Given the description of an element on the screen output the (x, y) to click on. 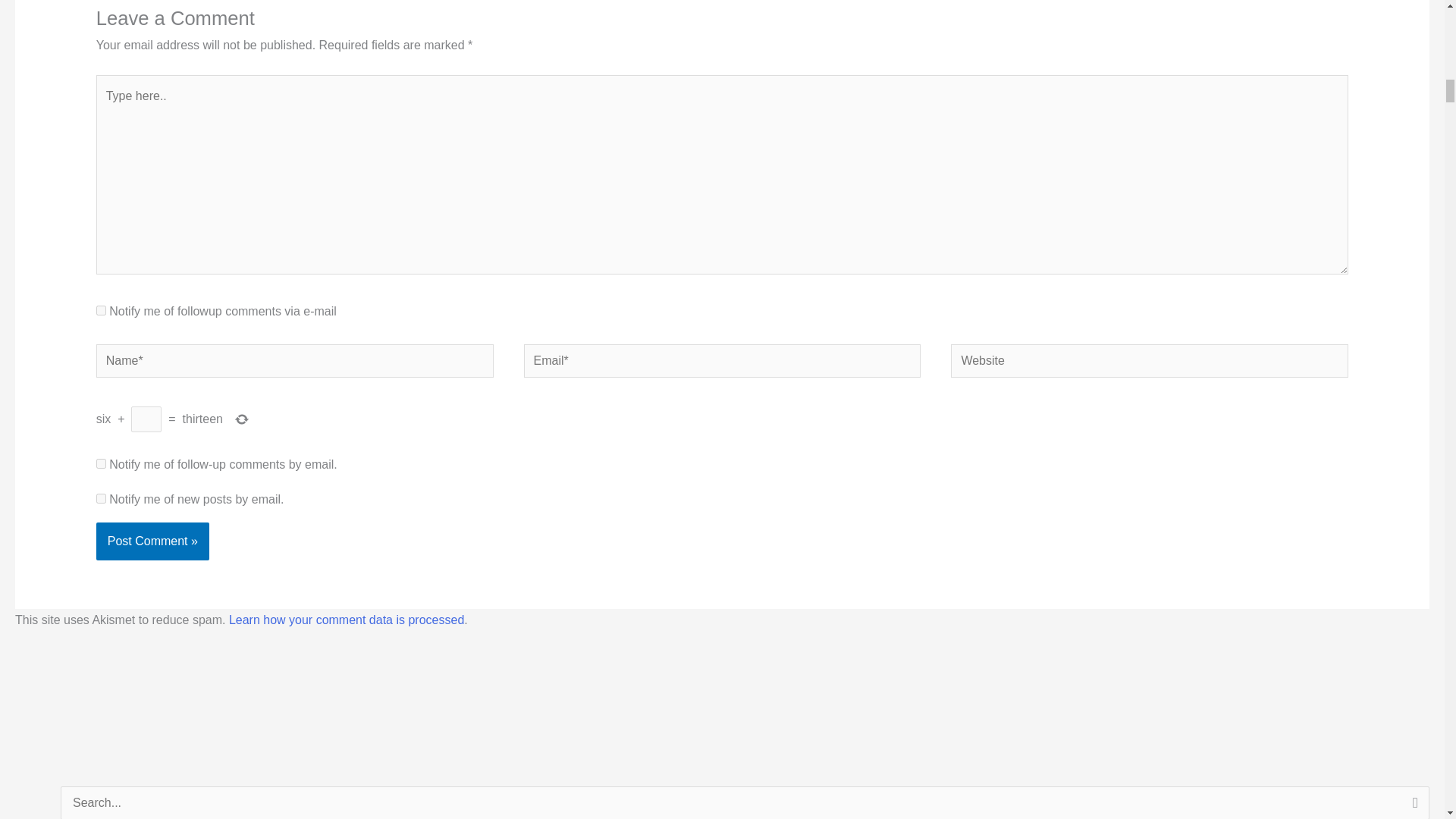
subscribe (101, 463)
Search (1411, 802)
Search (1411, 802)
Search (1411, 802)
Learn how your comment data is processed (346, 619)
subscribe (101, 310)
subscribe (101, 498)
